Given the description of an element on the screen output the (x, y) to click on. 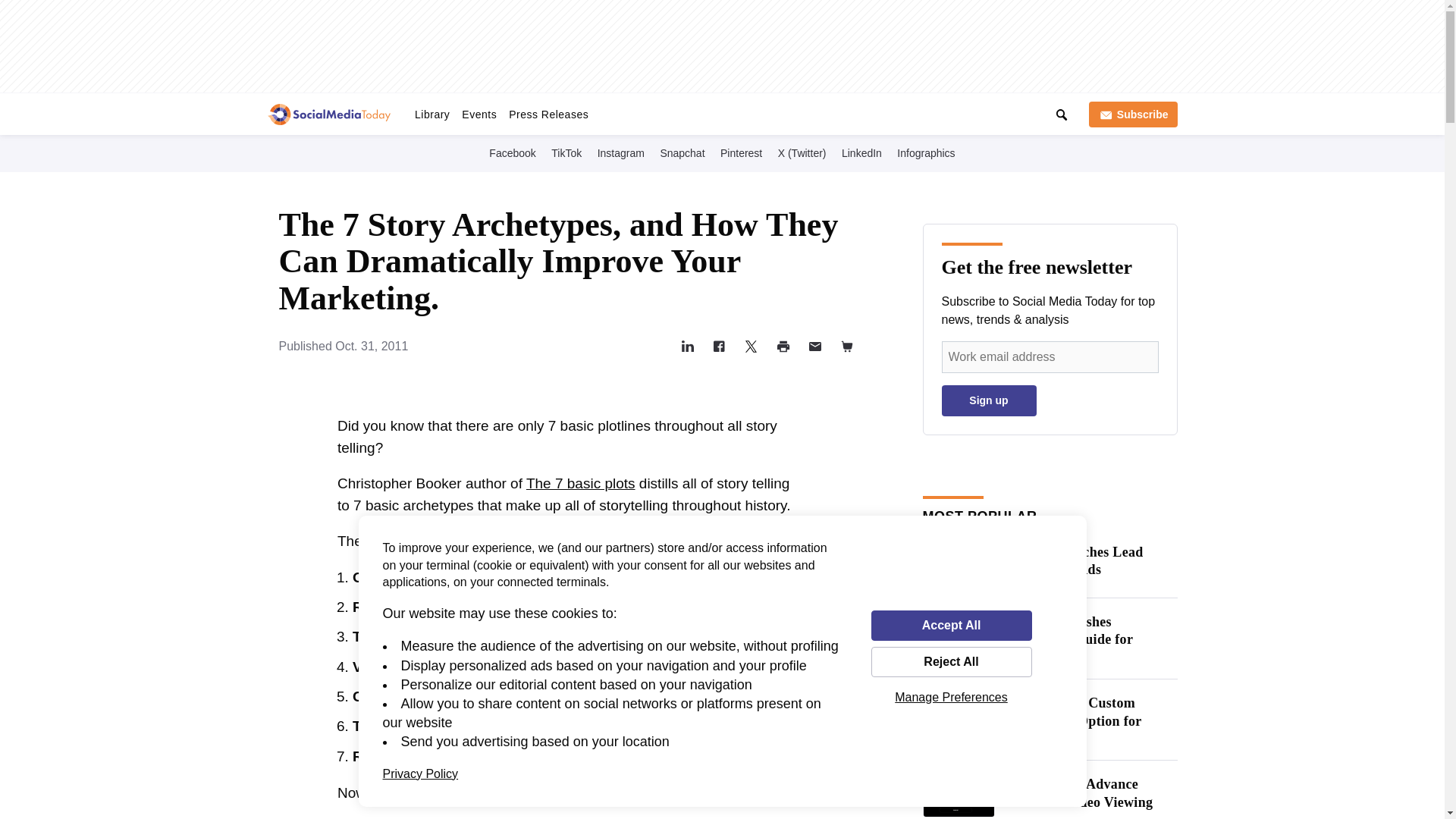
Library (432, 114)
Reject All (950, 662)
SMT Experts (710, 110)
The 7 basic plots (579, 483)
Live Twitter Chat (624, 110)
Instagram (620, 152)
Events (478, 114)
Facebook (512, 152)
Subscribe (1132, 114)
Pinterest (741, 152)
Snapchat (681, 152)
Become a Contributor (806, 110)
TikTok (566, 152)
Privacy Policy (419, 773)
Accept All (950, 625)
